Given the description of an element on the screen output the (x, y) to click on. 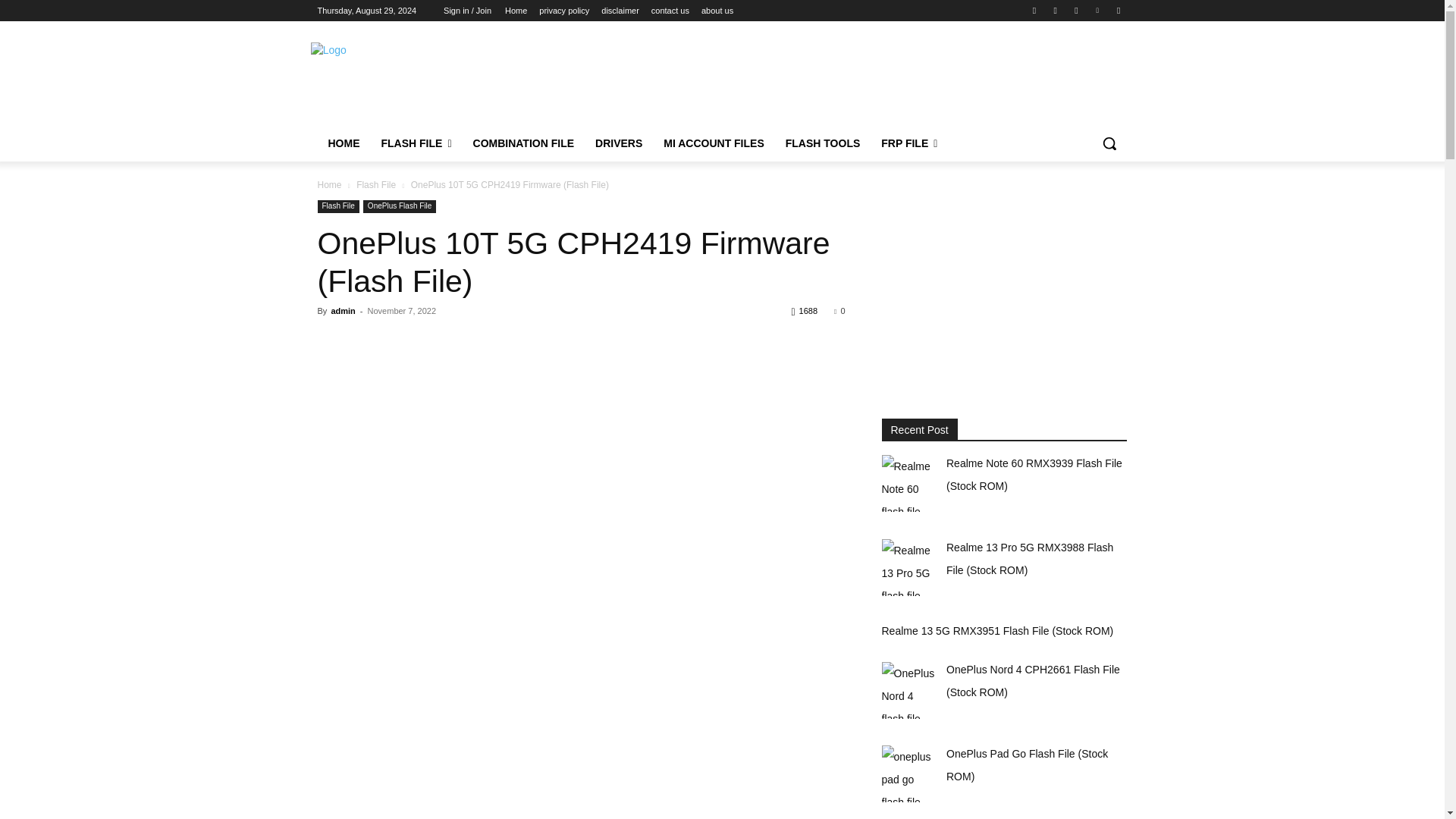
Instagram (1055, 9)
Facebook (1034, 9)
contact us (669, 10)
disclaimer (620, 10)
Home (516, 10)
privacy policy (563, 10)
FLASH FILE (415, 143)
Twitter (1075, 9)
about us (717, 10)
Advertisement (843, 78)
